Given the description of an element on the screen output the (x, y) to click on. 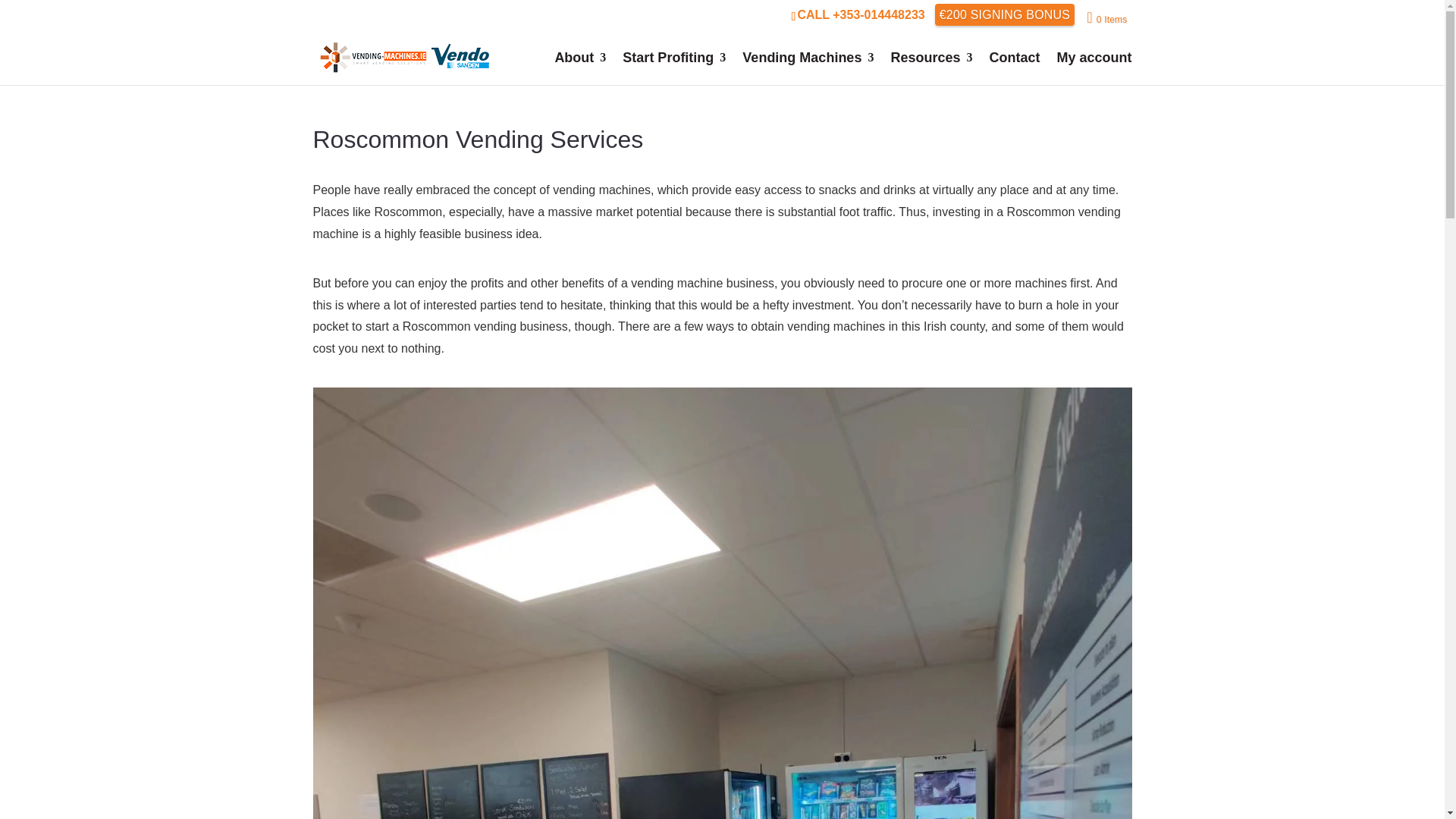
Start shopping (1106, 18)
Start Profiting (674, 68)
About (579, 68)
Resources (930, 68)
Vending Machines (807, 68)
0 Items (1106, 18)
